Given the description of an element on the screen output the (x, y) to click on. 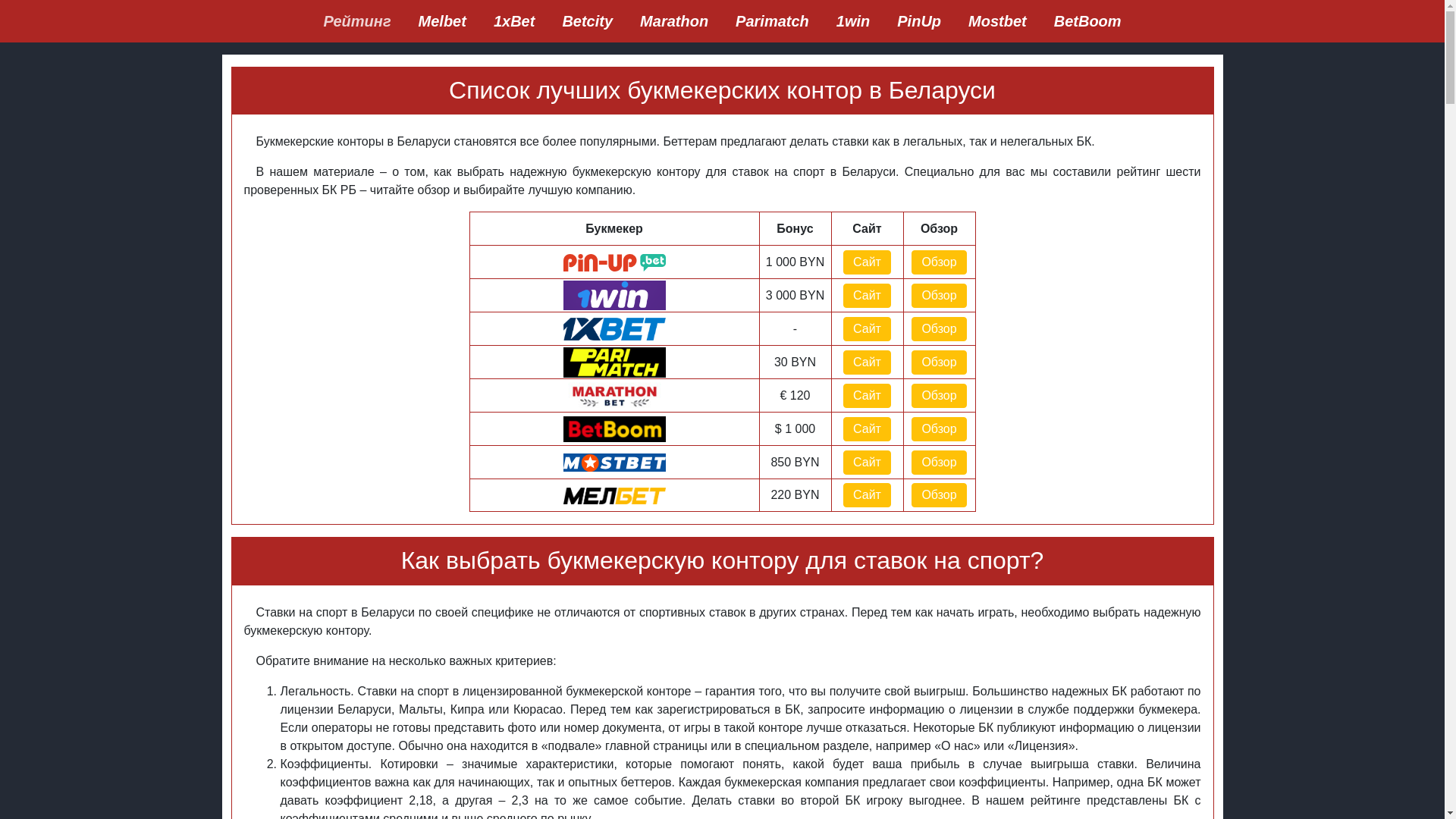
Marathon Element type: text (673, 21)
1xBet Element type: text (513, 21)
Mostbet Element type: text (997, 21)
PinUp Element type: text (919, 21)
Betcity Element type: text (586, 21)
1win Element type: text (852, 21)
BetBoom Element type: text (1087, 21)
Parimatch Element type: text (772, 21)
Melbet Element type: text (442, 21)
